Given the description of an element on the screen output the (x, y) to click on. 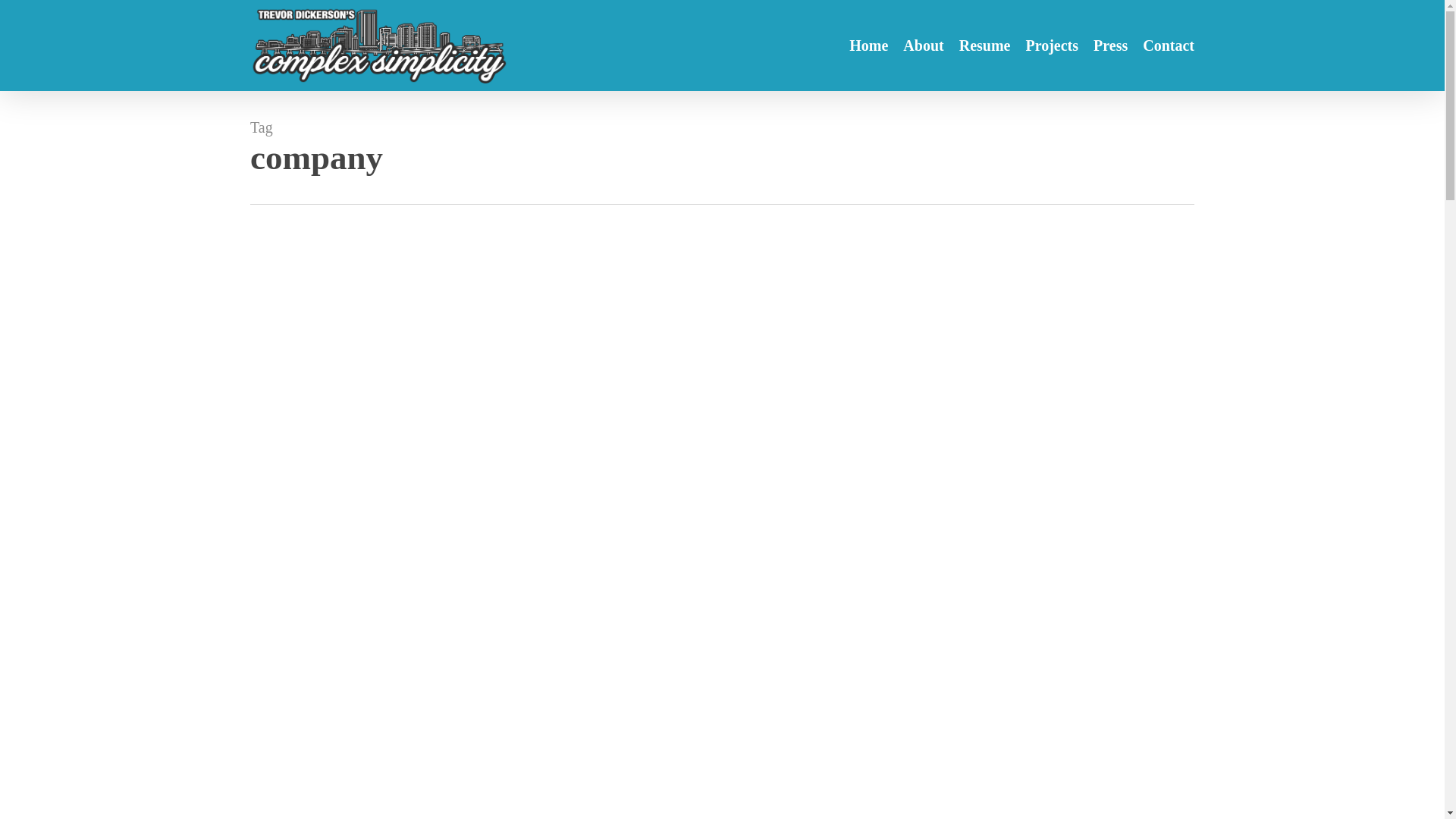
Contact (1167, 45)
Resume (984, 45)
Press (1109, 45)
Home (868, 45)
Projects (1051, 45)
About (922, 45)
